Given the description of an element on the screen output the (x, y) to click on. 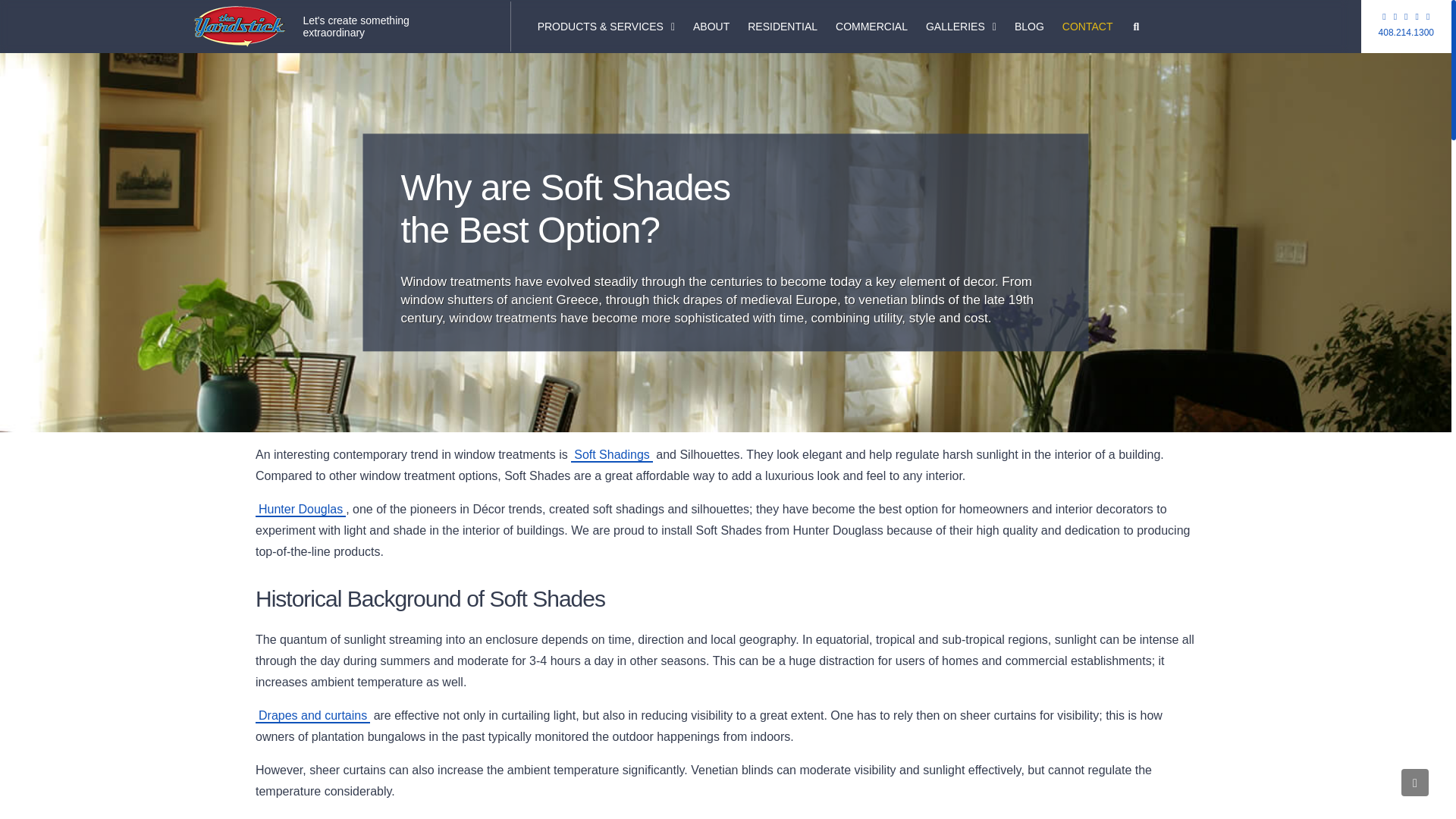
COMMERCIAL (872, 26)
GALLERIES (961, 26)
BLOG (351, 26)
408.214.1300 (1029, 26)
RESIDENTIAL (1406, 32)
CONTACT (782, 26)
ABOUT (1087, 26)
